Given the description of an element on the screen output the (x, y) to click on. 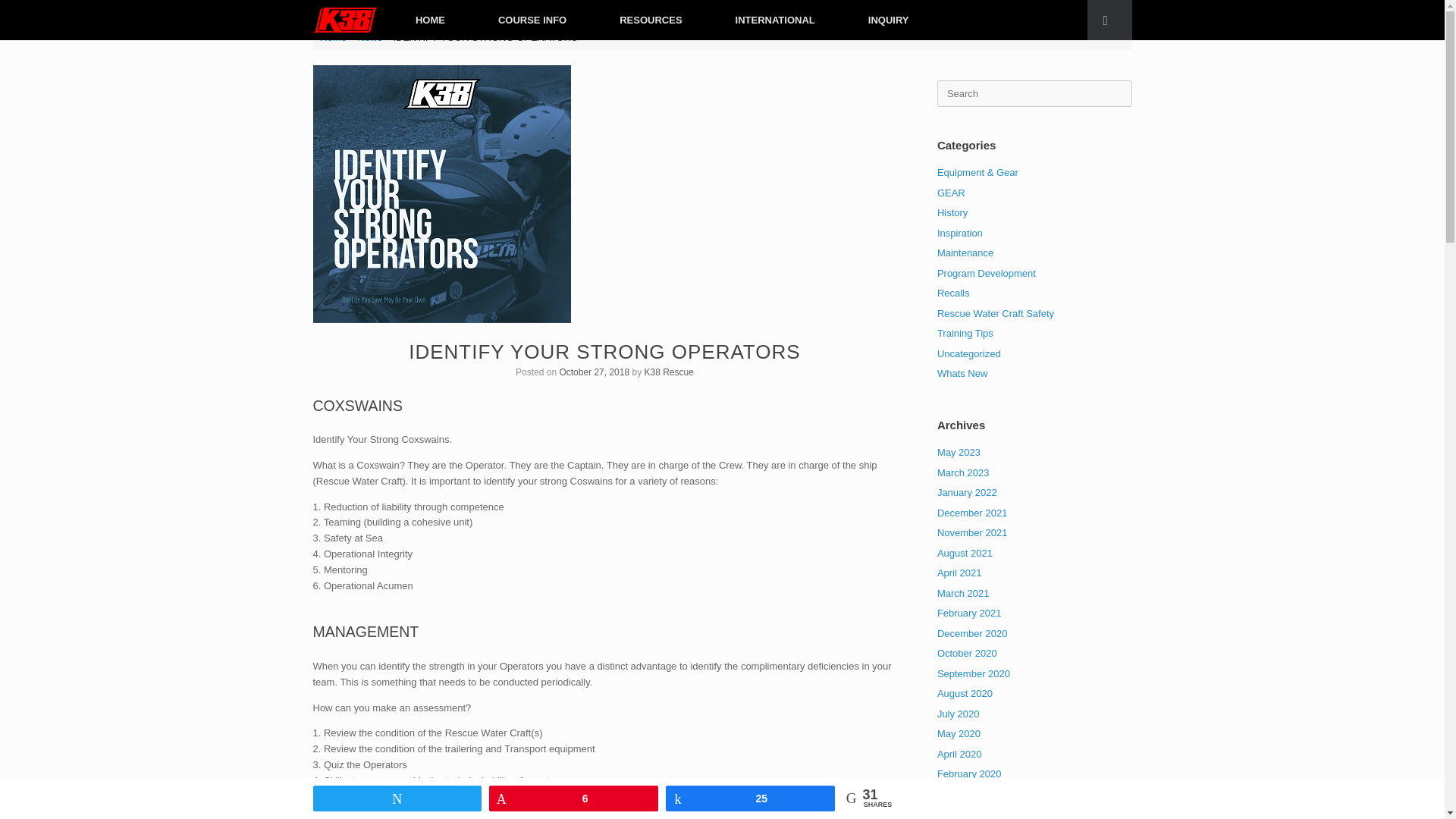
HOME (429, 20)
INTERNATIONAL (775, 20)
COURSE INFO (531, 20)
RESOURCES (649, 20)
5:26 pm (593, 371)
View all posts by K38 Rescue (669, 371)
K38 Rescue Water Craft Services (345, 20)
